Given the description of an element on the screen output the (x, y) to click on. 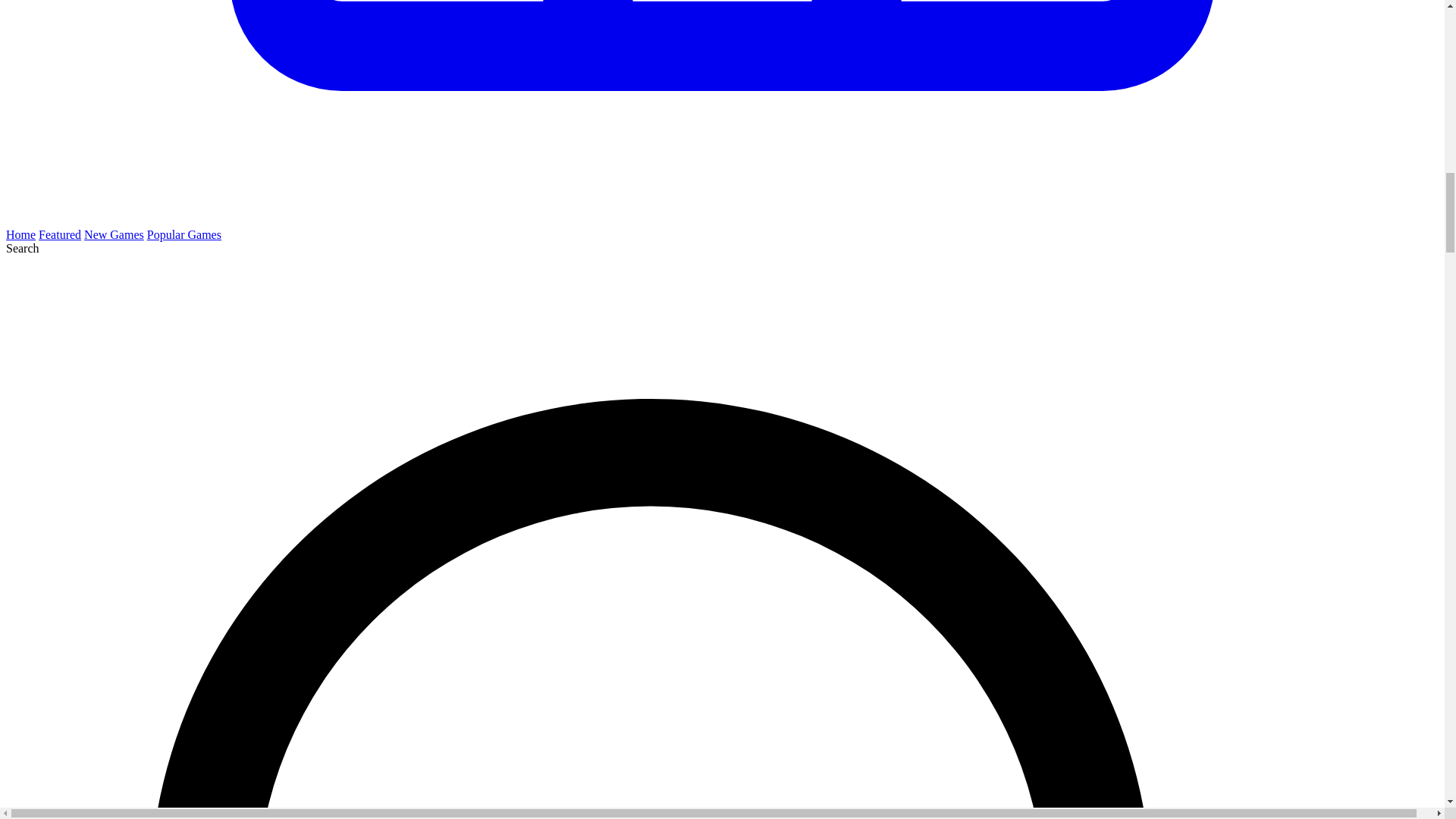
Popular Games (184, 234)
Featured (60, 234)
New Games (114, 234)
Home (19, 234)
